Given the description of an element on the screen output the (x, y) to click on. 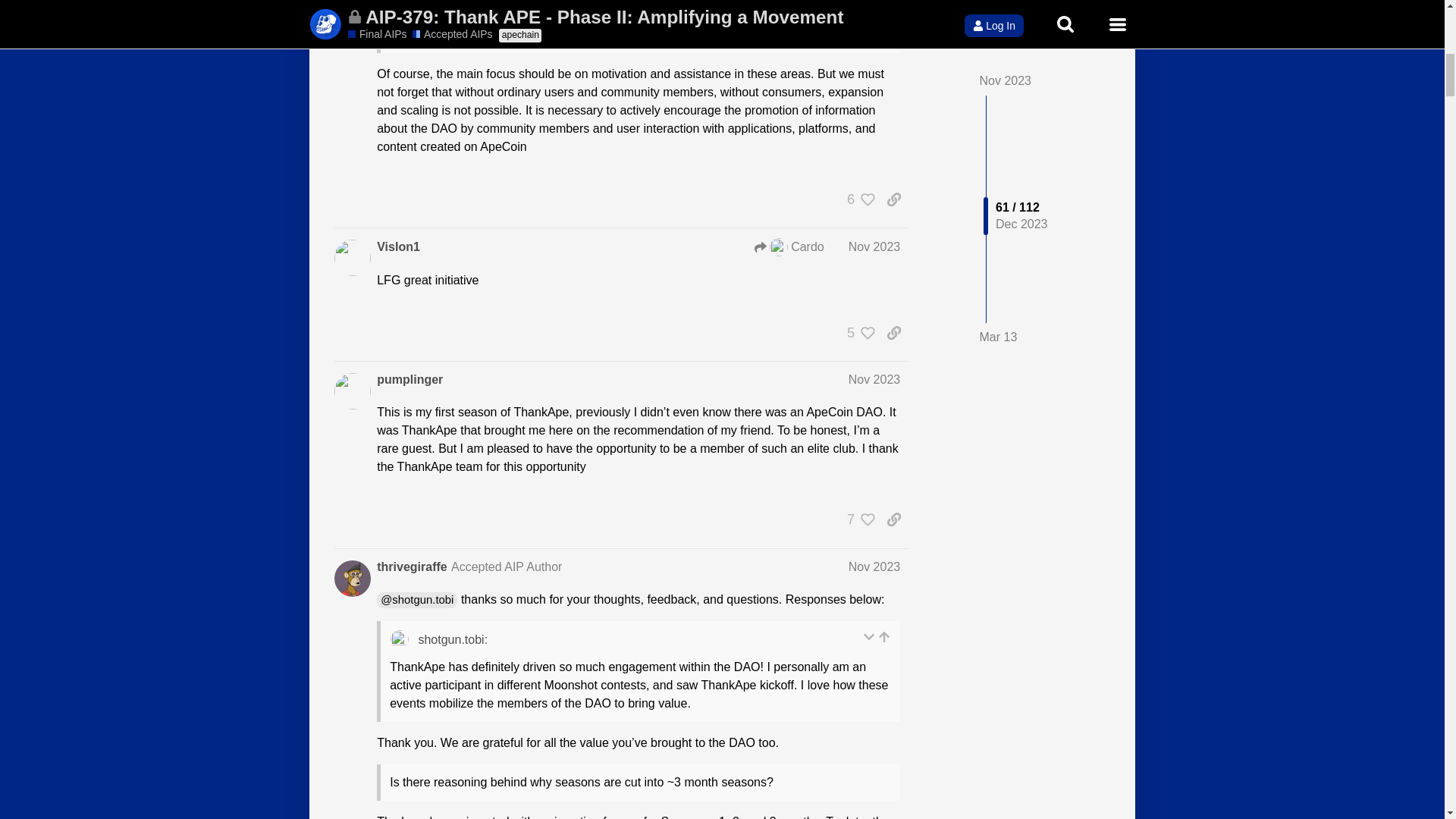
Cardo (789, 247)
5 (857, 332)
VisIon1 (398, 247)
Nov 2023 (874, 246)
6 (857, 199)
